Given the description of an element on the screen output the (x, y) to click on. 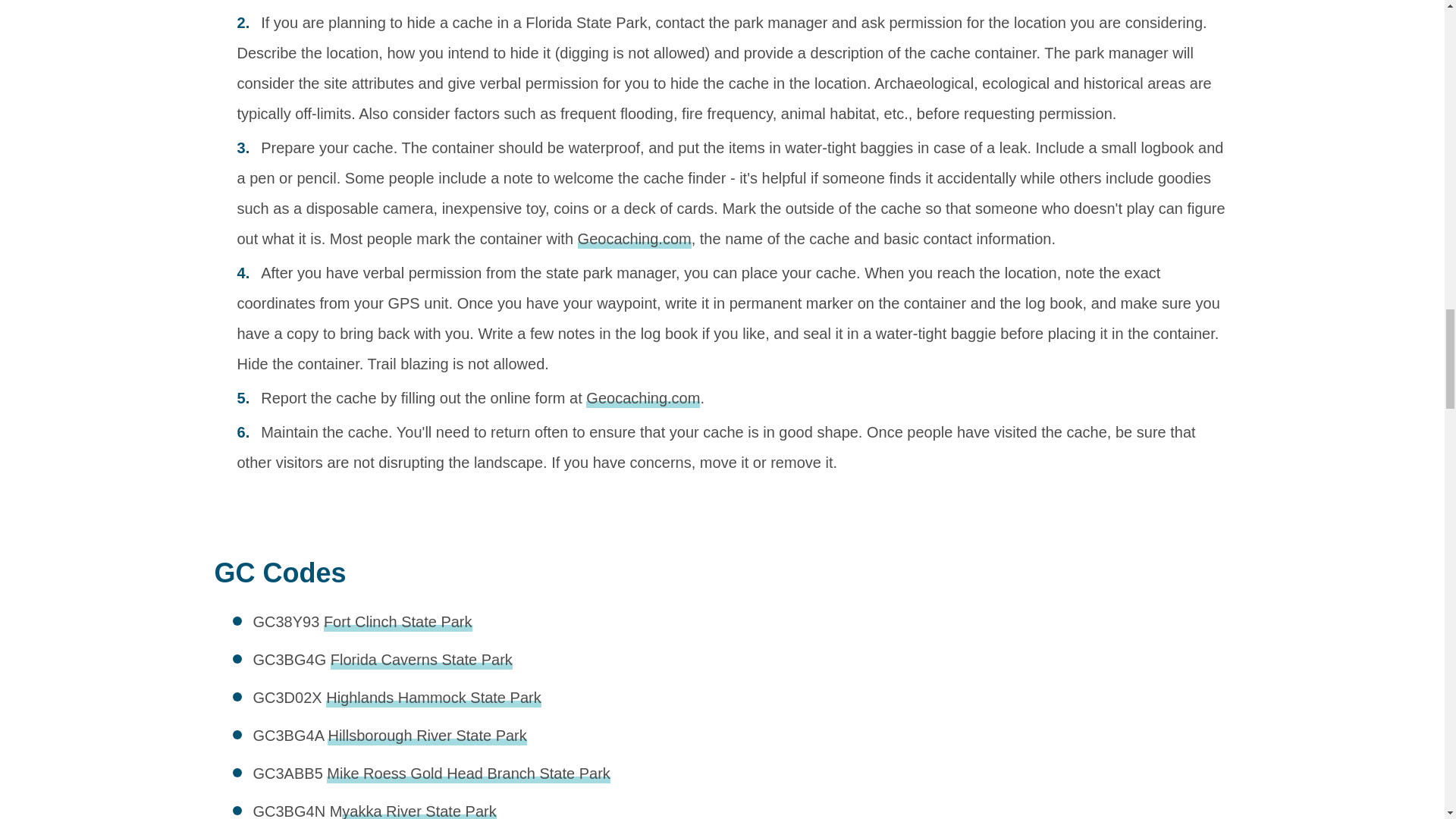
Geocaching.com (643, 398)
Highlands Hammock State Park (433, 698)
Fort Clinch State Park (397, 622)
Mike Roess Gold Head Branch State Park (468, 773)
Florida Caverns State Park (421, 660)
Geocaching.com (634, 239)
Hillsborough River State Park (426, 736)
